Given the description of an element on the screen output the (x, y) to click on. 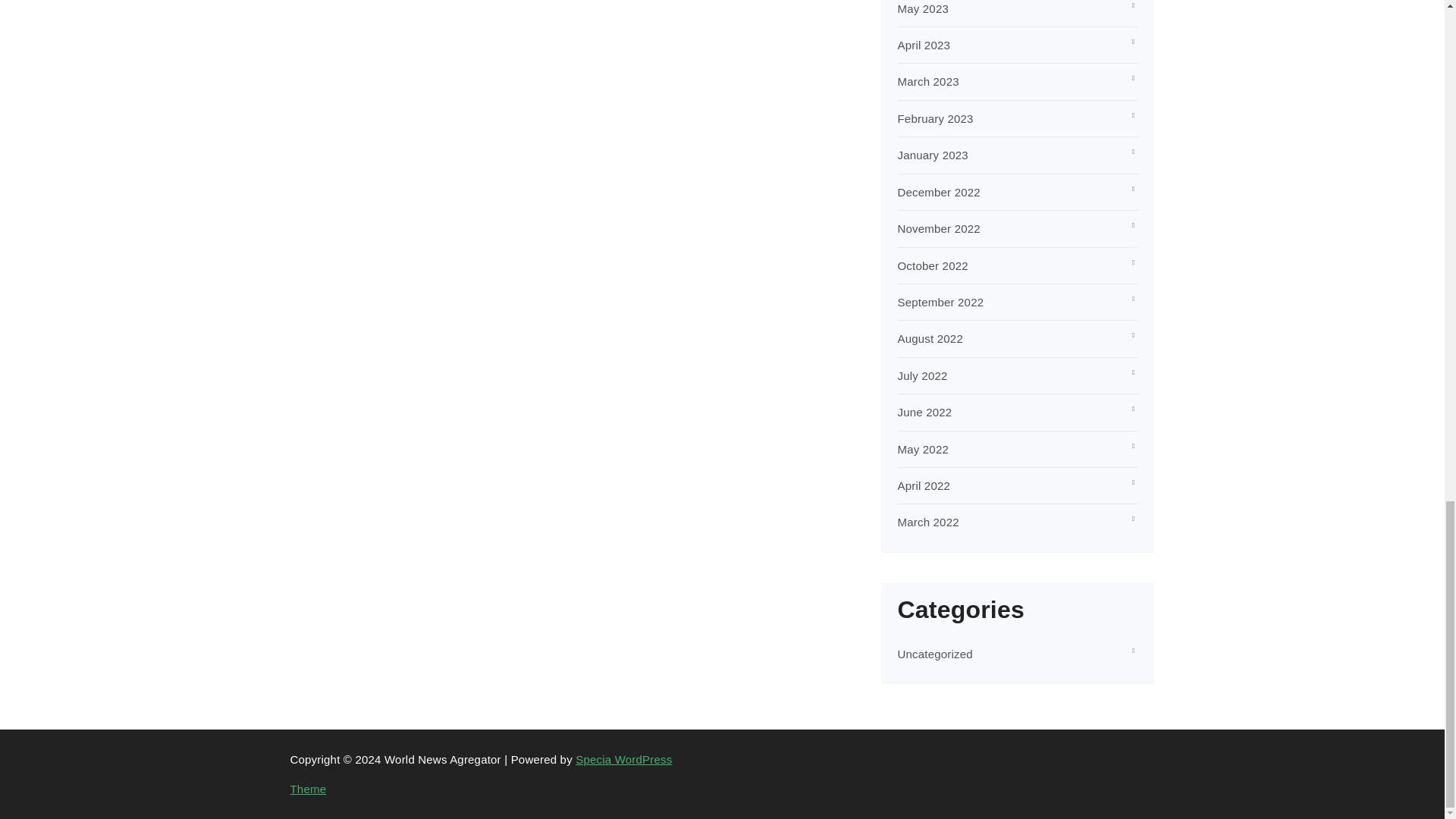
January 2023 (933, 154)
May 2023 (923, 8)
December 2022 (938, 192)
March 2023 (928, 81)
April 2023 (924, 44)
February 2023 (936, 118)
